Given the description of an element on the screen output the (x, y) to click on. 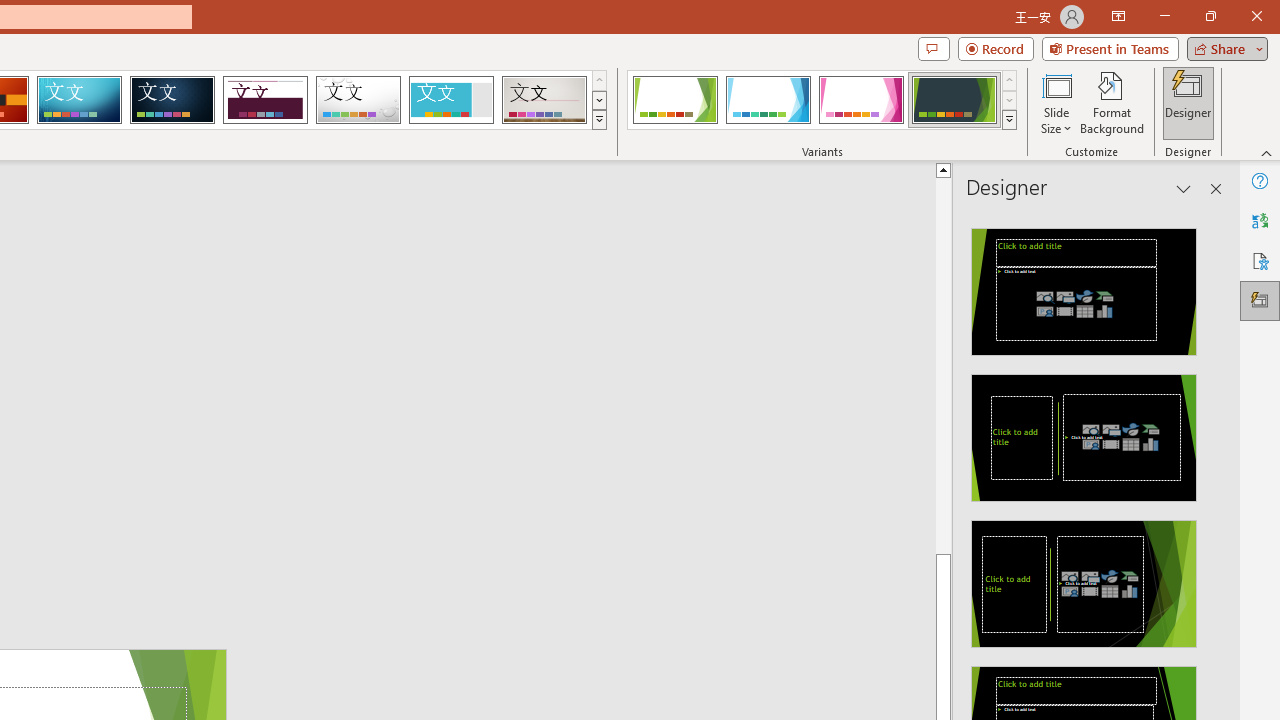
Facet Variant 3 (861, 100)
Gallery (544, 100)
Facet Variant 2 (768, 100)
Circuit (79, 100)
Dividend (265, 100)
AutomationID: ThemeVariantsGallery (822, 99)
Translator (1260, 220)
Facet Variant 4 (953, 100)
